Given the description of an element on the screen output the (x, y) to click on. 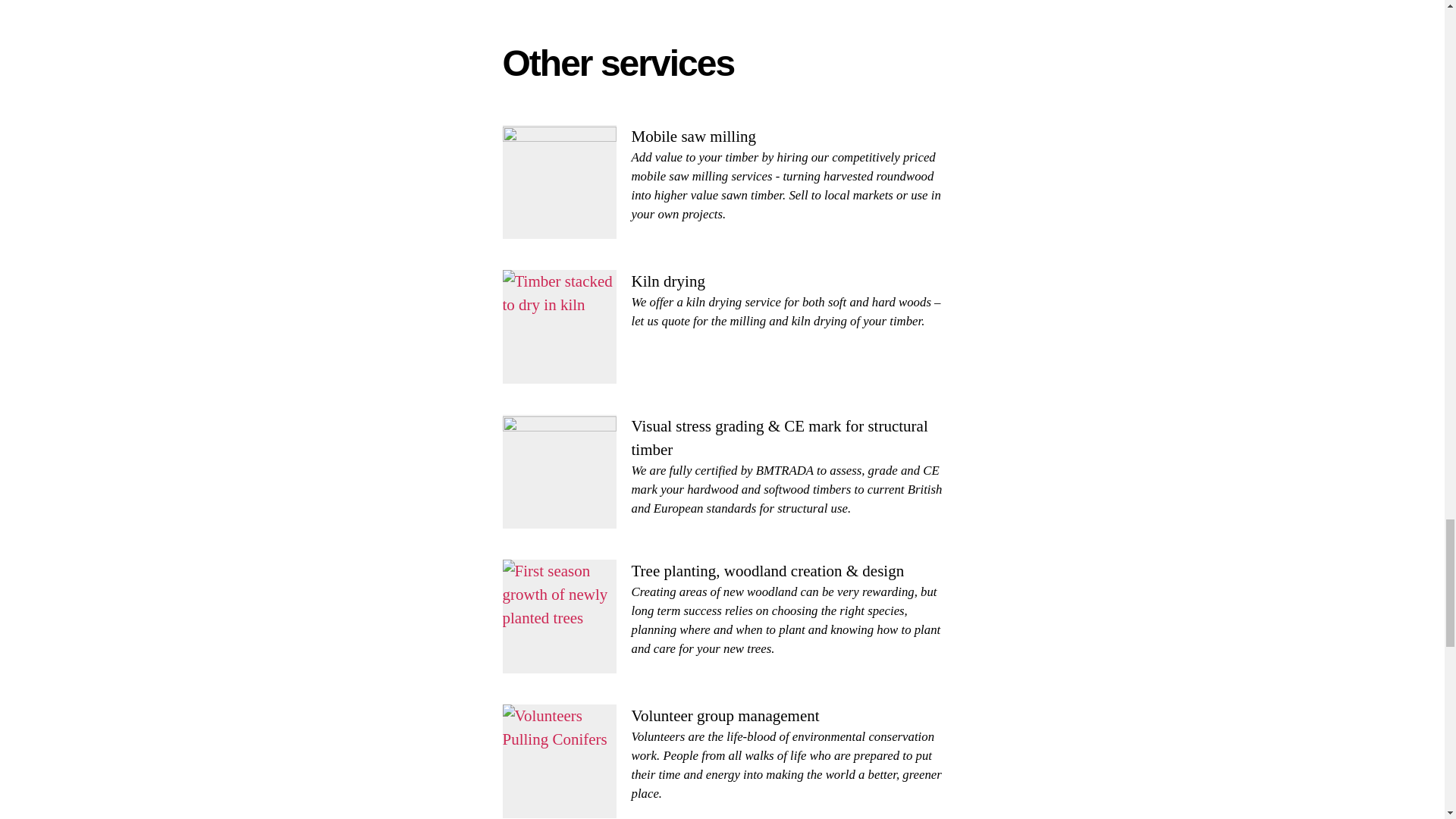
Volunteer group management (724, 715)
View Volunteer group management (724, 715)
Mobile saw milling (692, 136)
View Kiln drying (667, 280)
Kiln drying (667, 280)
View Mobile saw milling (692, 136)
